Given the description of an element on the screen output the (x, y) to click on. 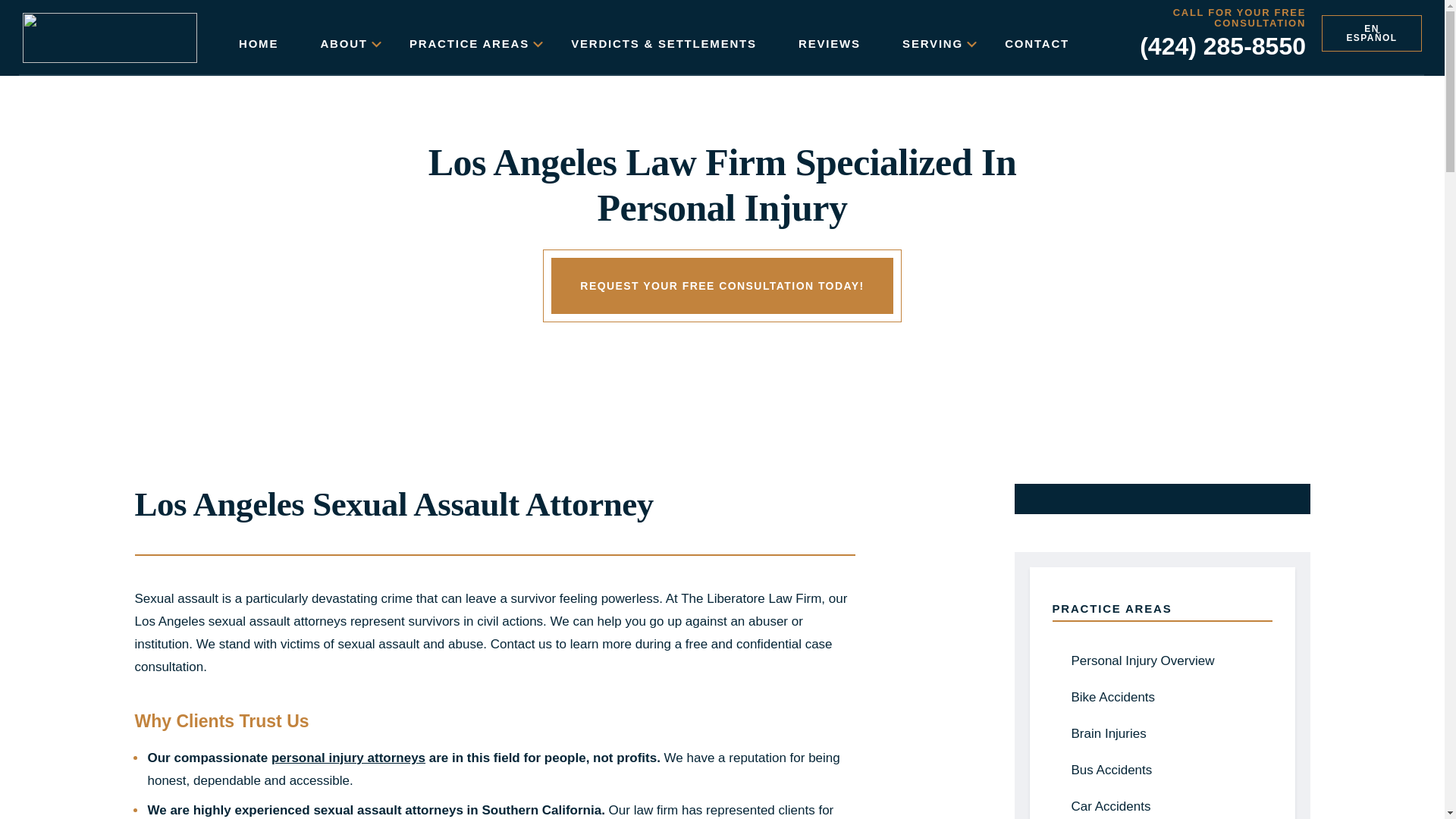
ABOUT (343, 43)
PRACTICE AREAS (469, 43)
Bike Accidents (1162, 697)
Bus Accidents (1162, 770)
Car Accidents (1162, 803)
Personal Injury Overview (1162, 660)
SERVING (932, 43)
CONTACT (1036, 43)
HOME (258, 43)
personal injury attorneys (347, 757)
REQUEST YOUR FREE CONSULTATION TODAY! (722, 285)
Brain Injuries (1162, 733)
REVIEWS (828, 43)
